Given the description of an element on the screen output the (x, y) to click on. 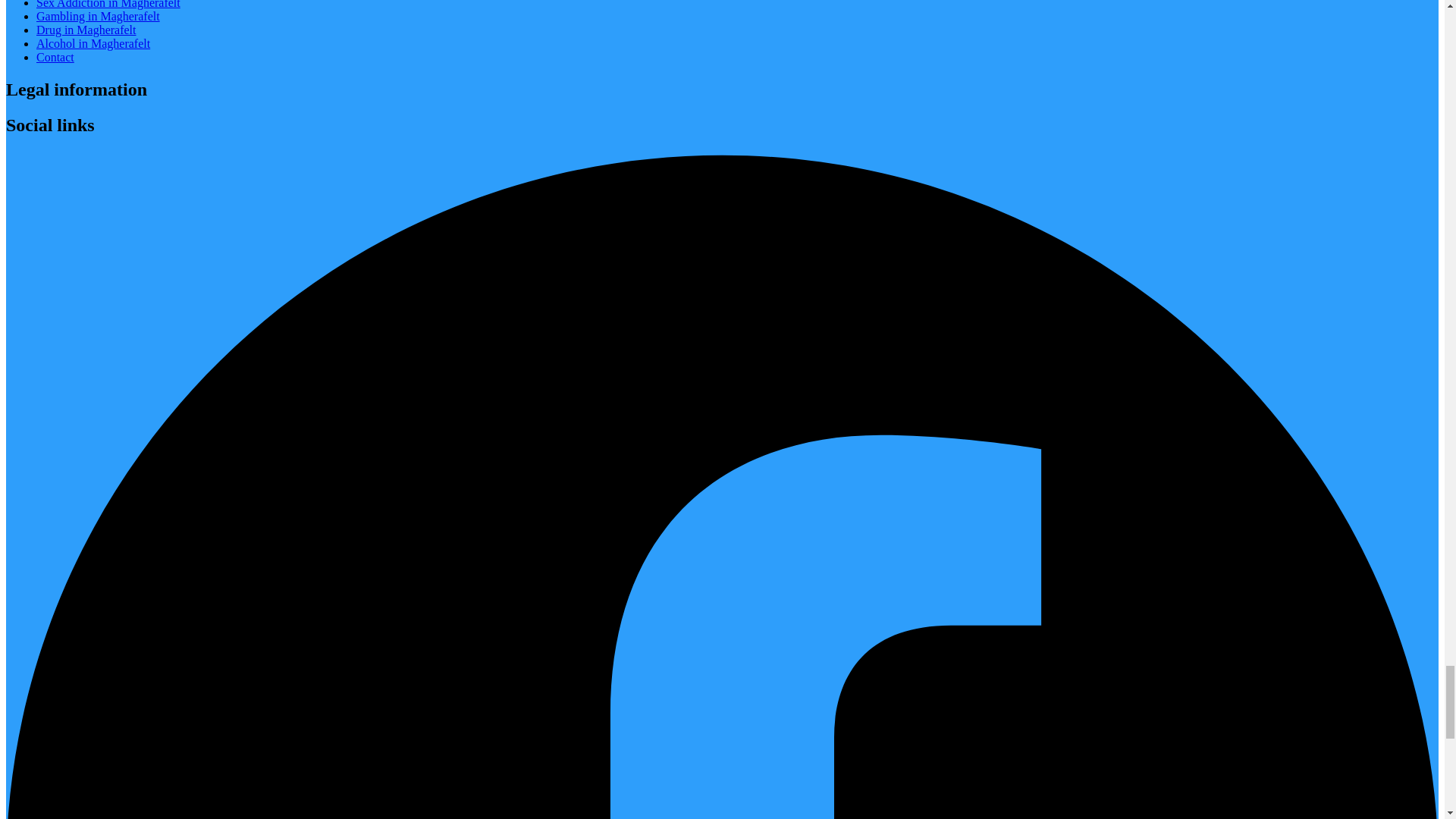
Gambling in Magherafelt (98, 15)
Sex Addiction in Magherafelt (108, 4)
Drug in Magherafelt (86, 29)
